Given the description of an element on the screen output the (x, y) to click on. 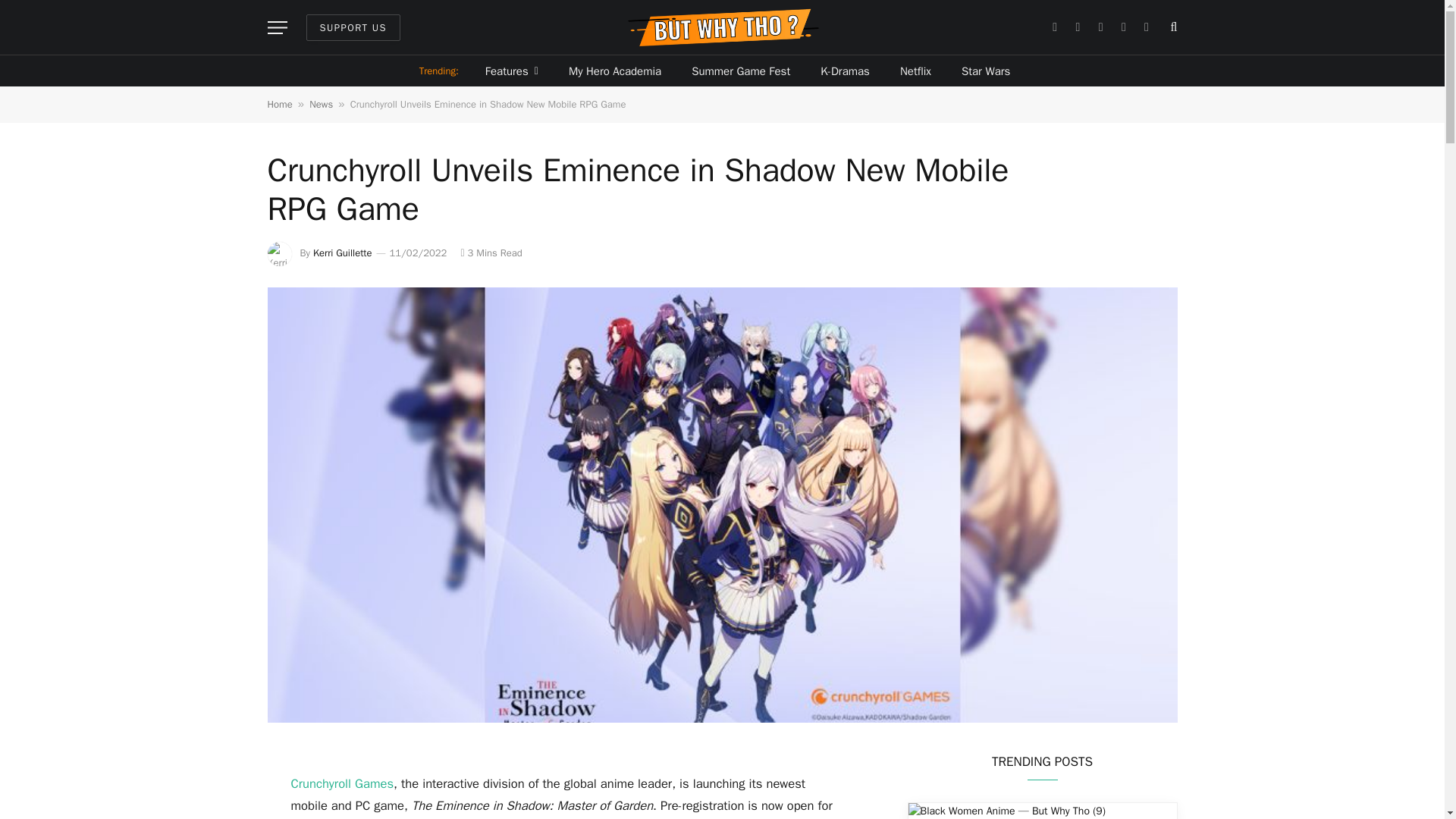
But Why Tho? (722, 27)
